Given the description of an element on the screen output the (x, y) to click on. 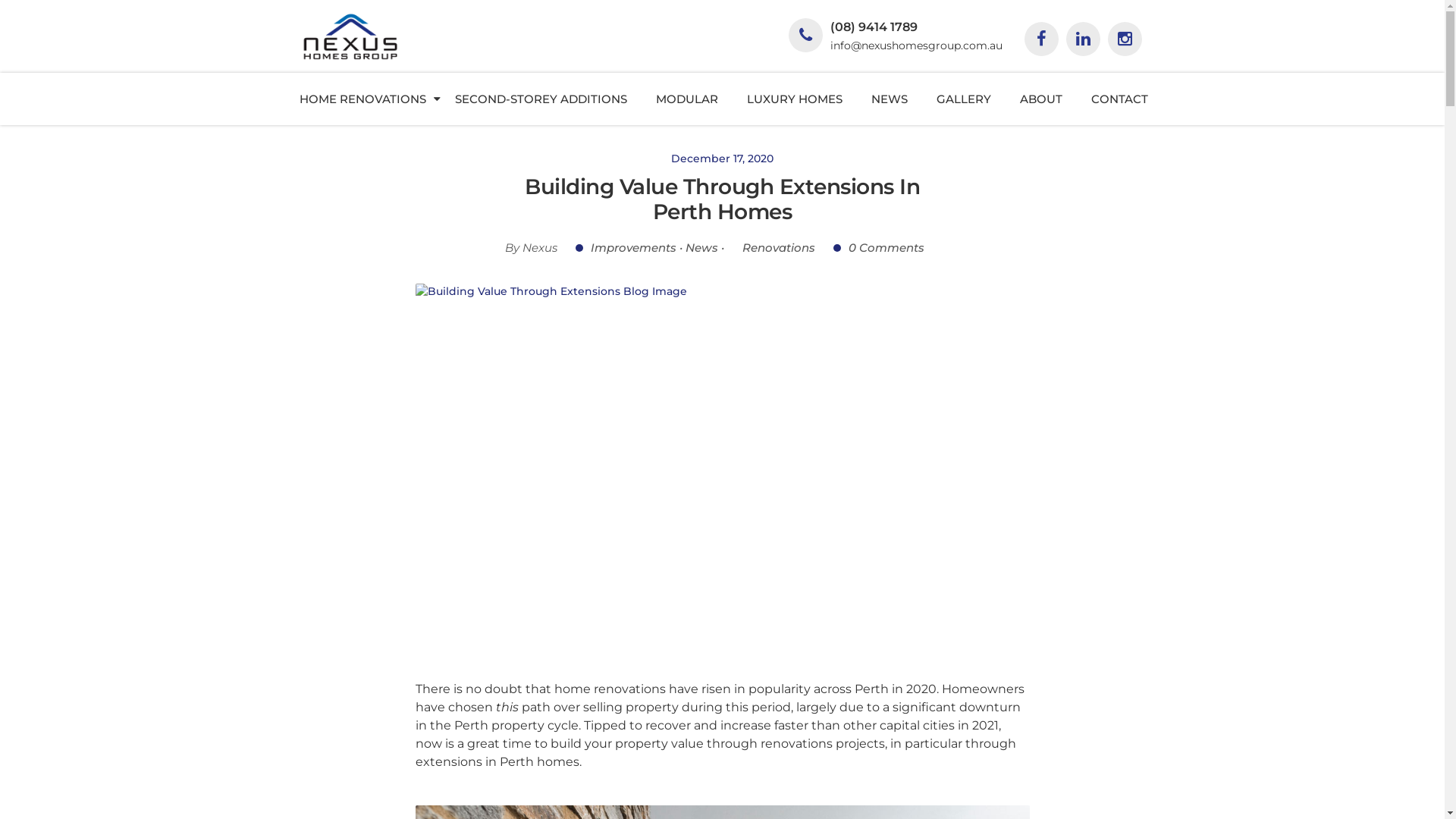
ABOUT Element type: text (1040, 98)
LUXURY HOMES Element type: text (794, 98)
GALLERY Element type: text (963, 98)
CONTACT Element type: text (1119, 98)
(08) 9414 1789 Element type: text (872, 26)
NEWS Element type: text (889, 98)
HOME RENOVATIONS Element type: text (362, 98)
Improvements Element type: text (625, 247)
0 Comments Element type: text (878, 247)
info@nexushomesgroup.com.au Element type: text (915, 45)
News Element type: text (701, 247)
SECOND-STOREY ADDITIONS Element type: text (540, 98)
Renovations Element type: text (771, 247)
MODULAR Element type: text (686, 98)
